Given the description of an element on the screen output the (x, y) to click on. 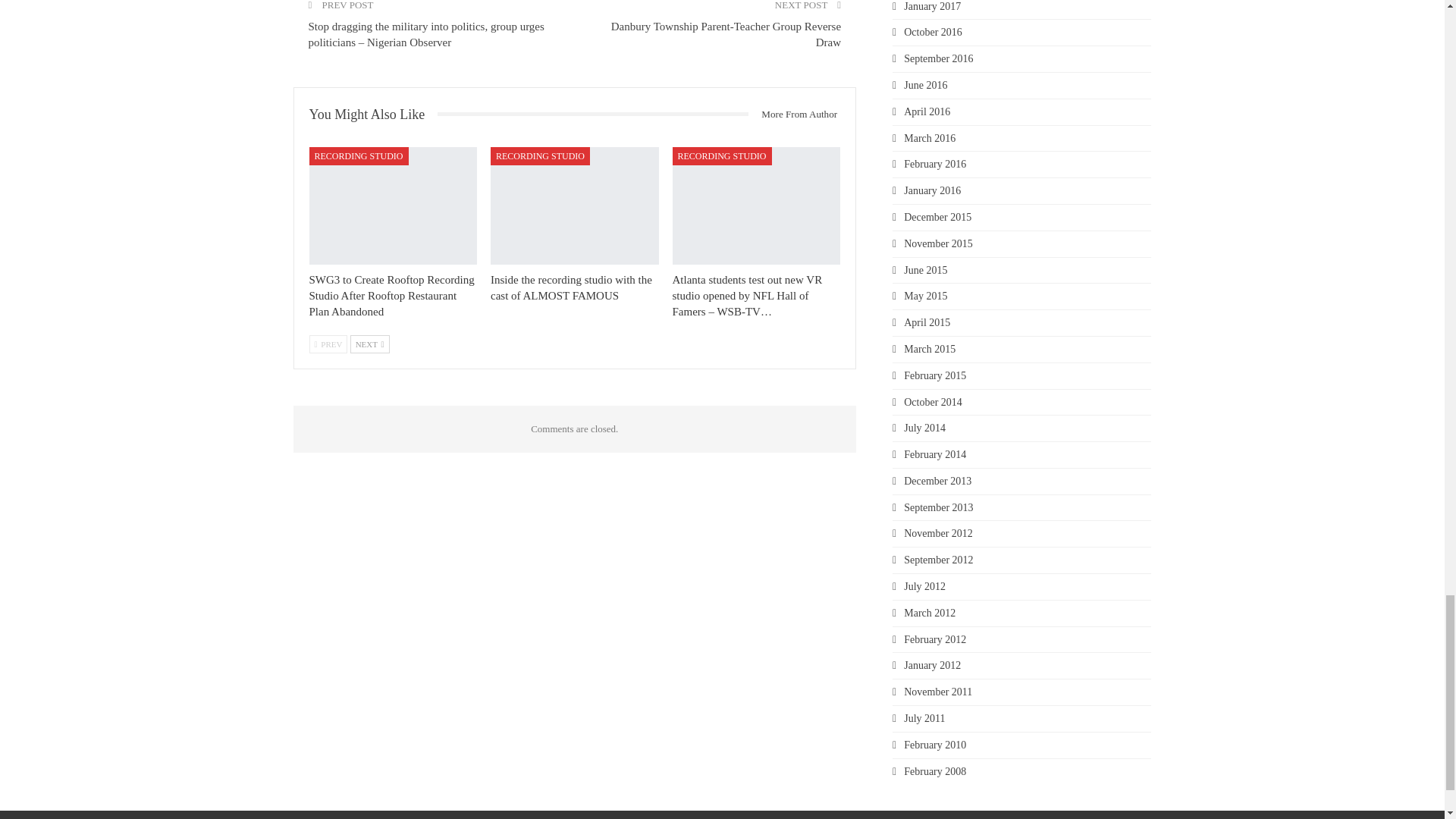
Inside the recording studio with the cast of ALMOST FAMOUS (571, 287)
Inside the recording studio with the cast of ALMOST FAMOUS (574, 205)
Next (370, 343)
Previous (327, 343)
